Given the description of an element on the screen output the (x, y) to click on. 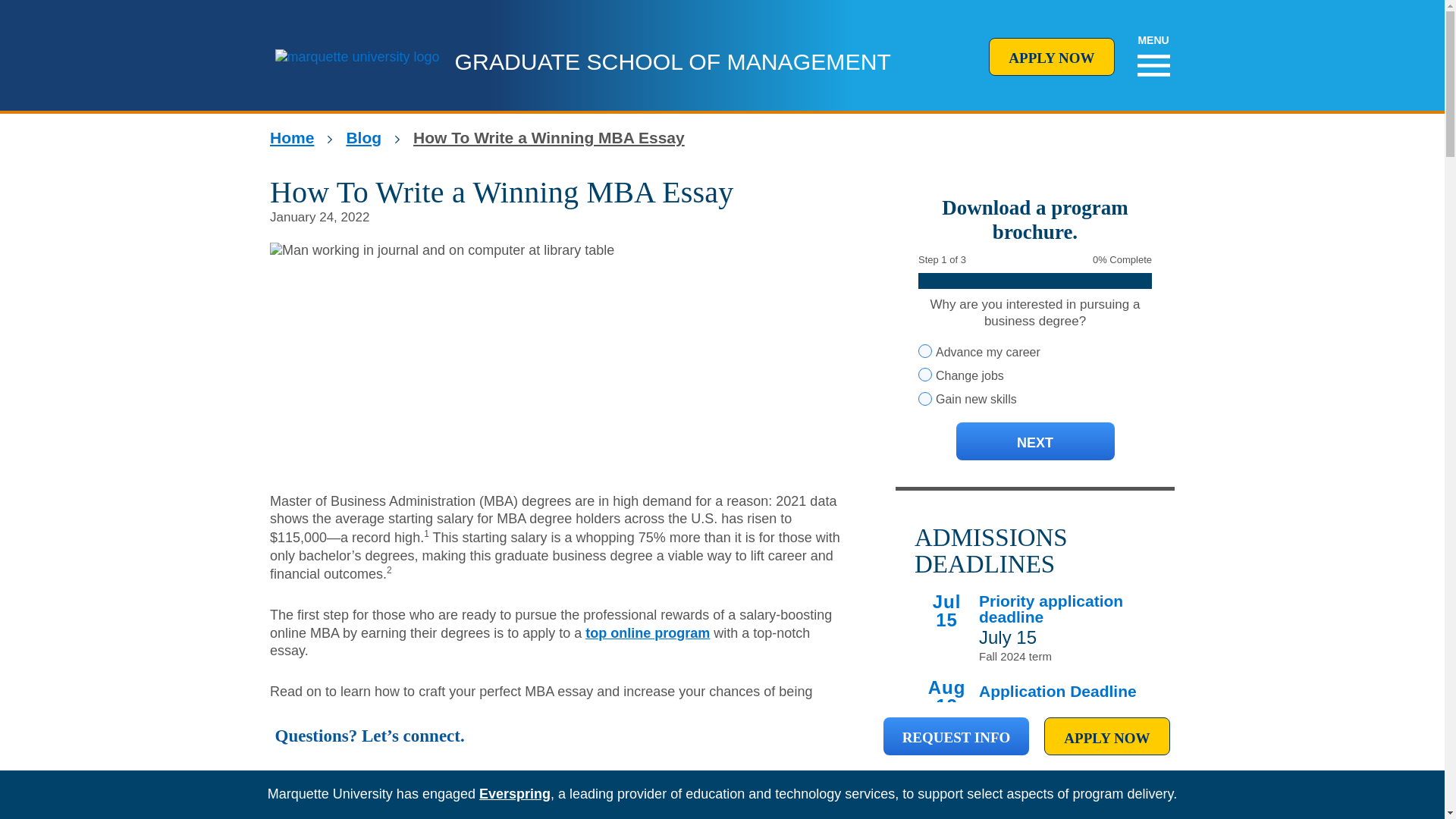
Career Advancement (924, 350)
Career Change (924, 374)
APPLY NOW (1050, 56)
Personal Development (924, 398)
